Given the description of an element on the screen output the (x, y) to click on. 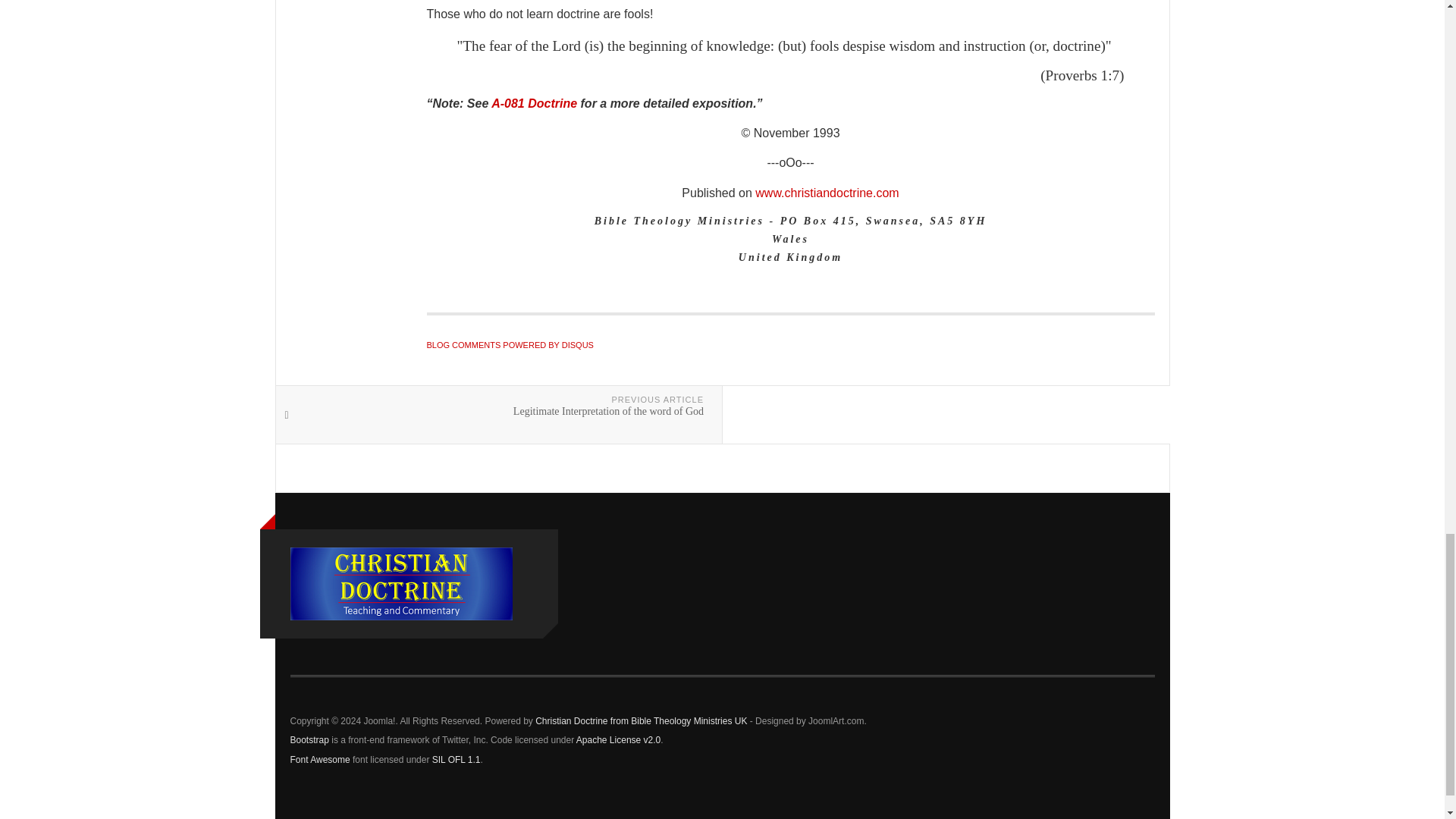
A-081 Doctrine (531, 103)
Christian Doctrine by Bible Theology Ministries (826, 192)
Christian Doctrine from Bible Theology Ministries UK (640, 720)
Christian Doctrine from Bible Theology Ministries UK (400, 583)
